Given the description of an element on the screen output the (x, y) to click on. 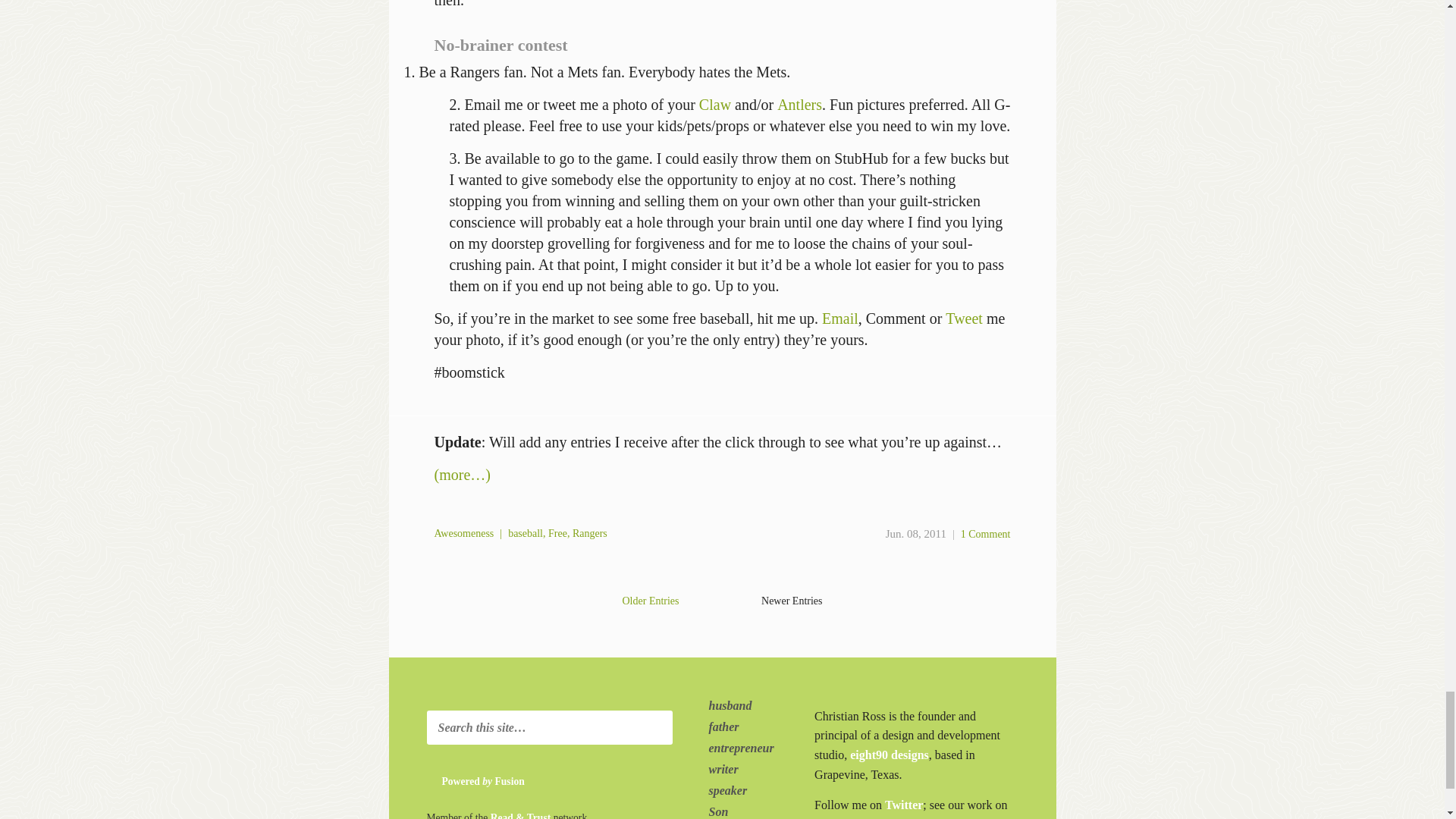
Powered by Fusion Ads (505, 781)
